Given the description of an element on the screen output the (x, y) to click on. 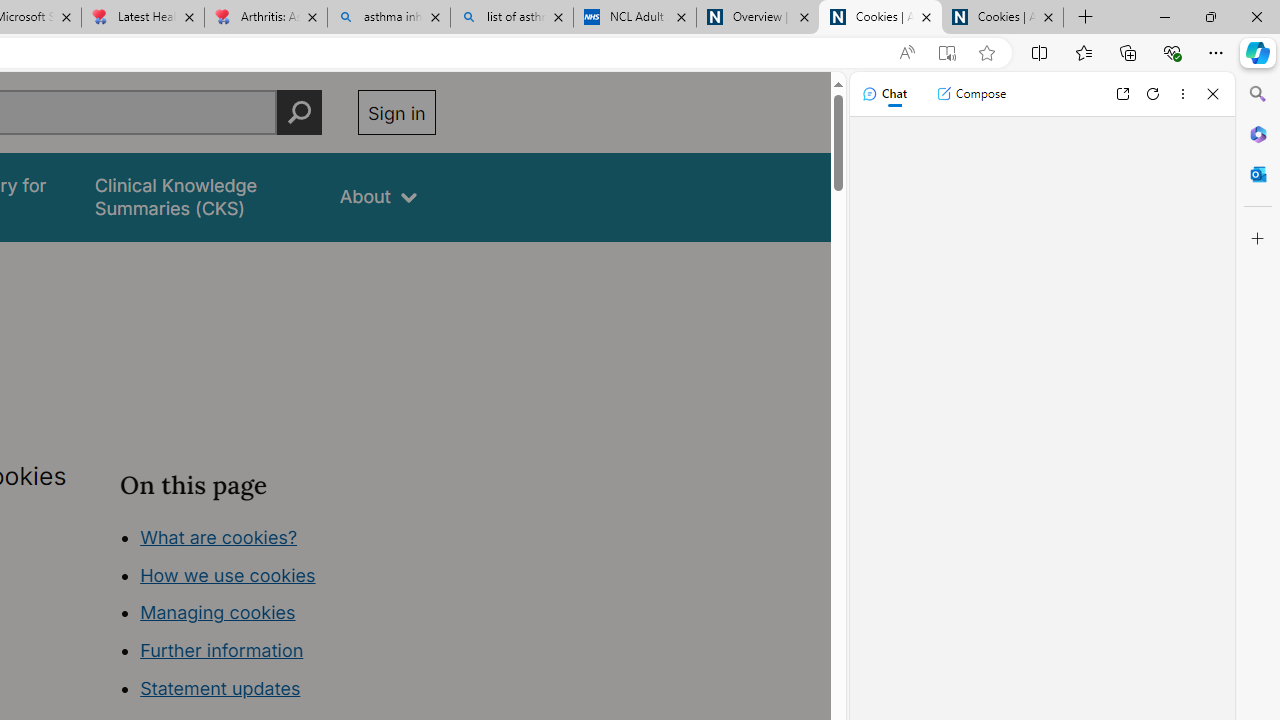
Further information (221, 650)
How we use cookies (227, 574)
Managing cookies (217, 612)
